Given the description of an element on the screen output the (x, y) to click on. 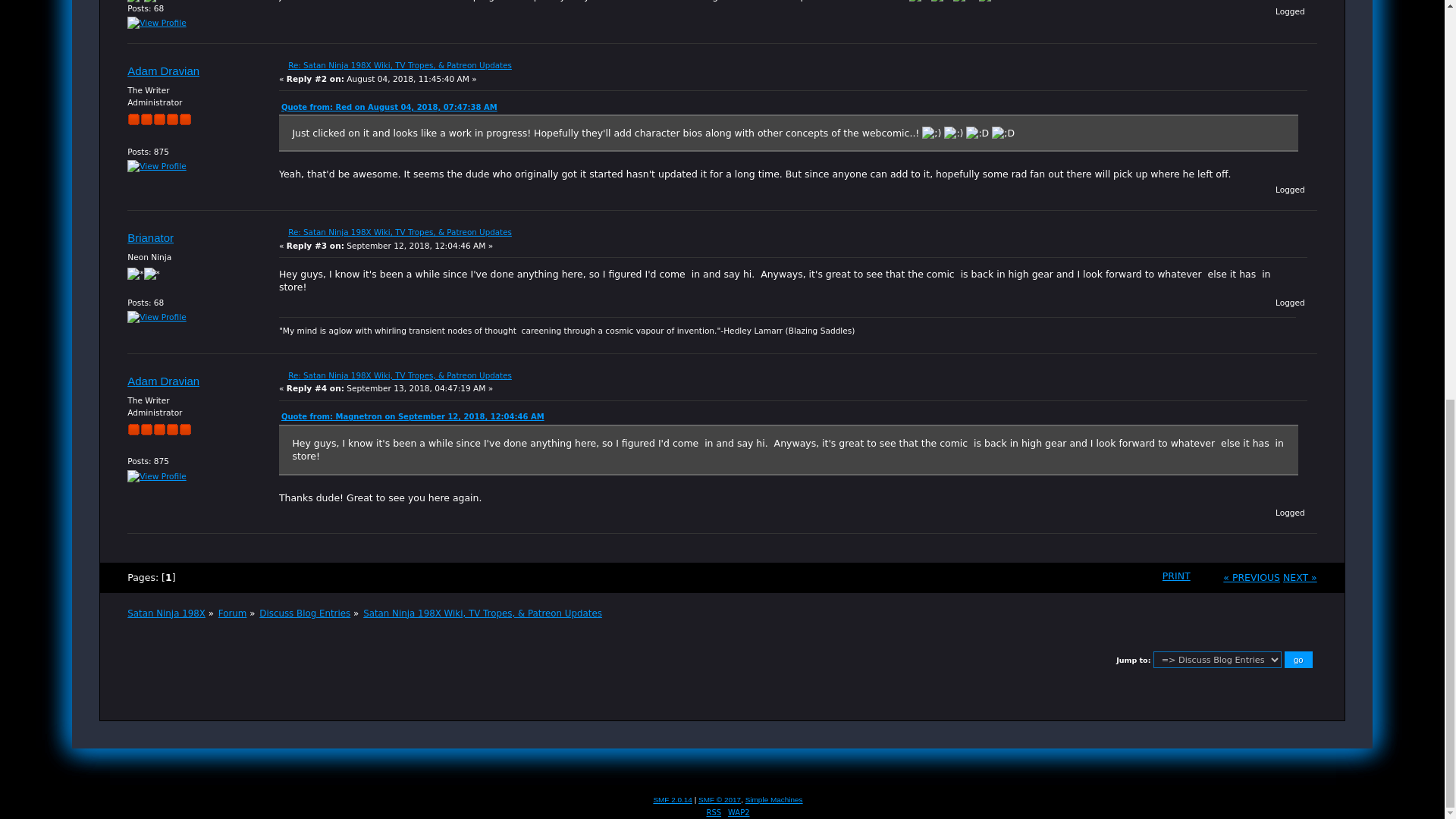
Grin (1002, 132)
Cheesy (977, 132)
Wink (930, 132)
View Profile (157, 316)
Smiley (952, 132)
Smiley (940, 1)
Wink (918, 1)
Grin (989, 1)
View the profile of Adam Dravian (163, 380)
Adam Dravian (163, 70)
